Given the description of an element on the screen output the (x, y) to click on. 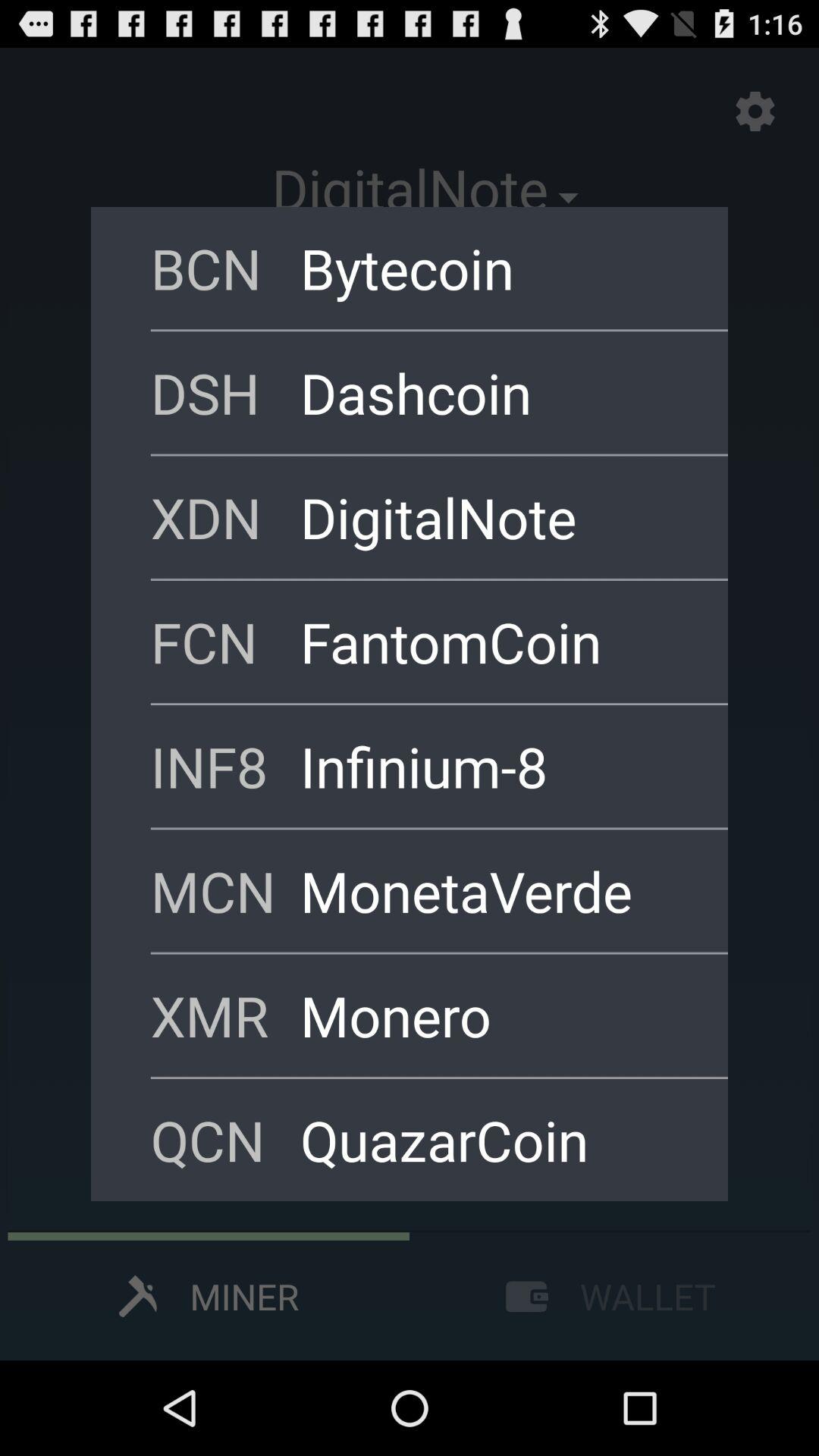
choose icon below the bcn app (225, 392)
